Given the description of an element on the screen output the (x, y) to click on. 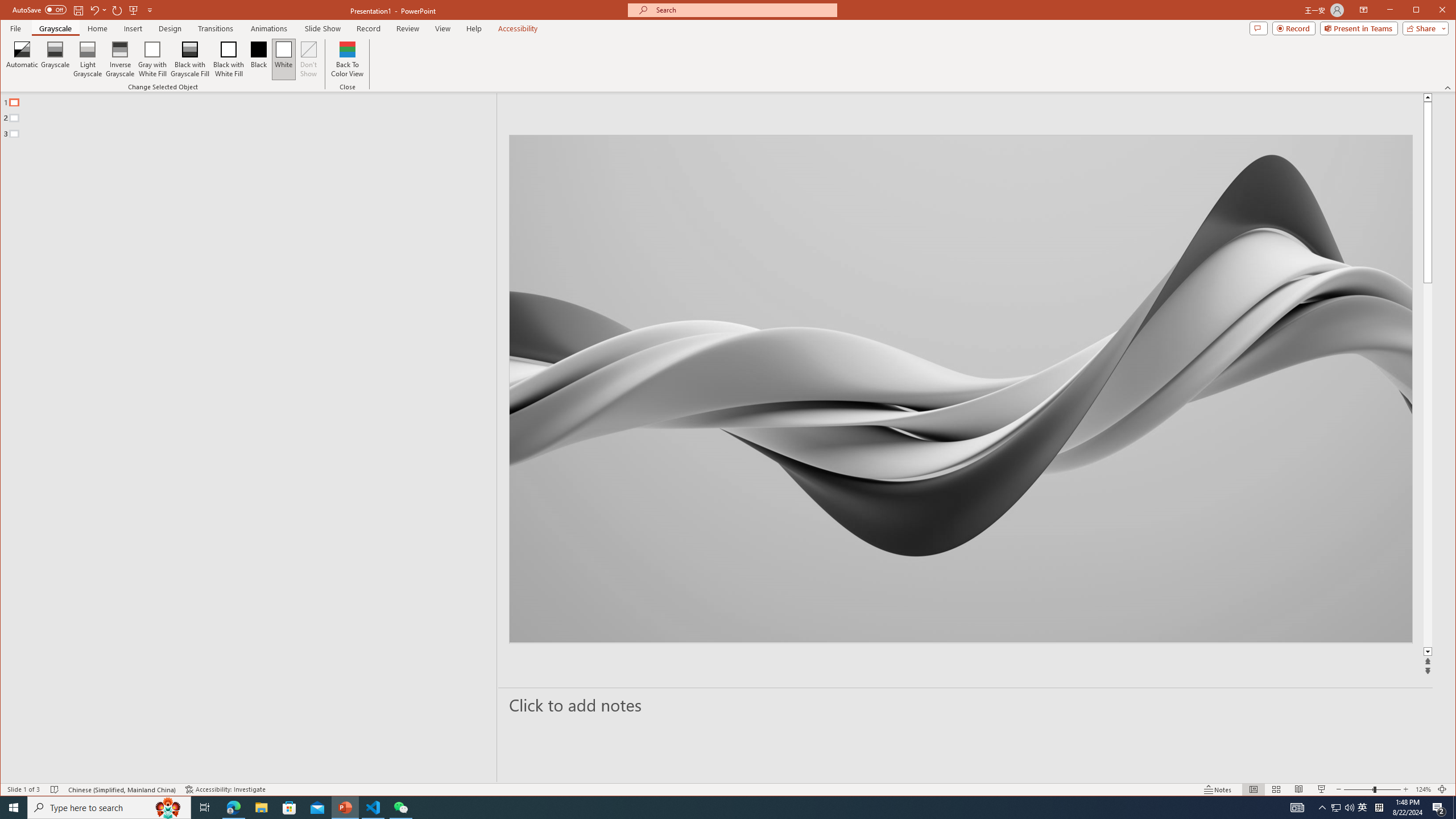
White (283, 59)
Grayscale (55, 28)
Black with Grayscale Fill (189, 59)
Gray with White Fill (152, 59)
Inverse Grayscale (119, 59)
